Given the description of an element on the screen output the (x, y) to click on. 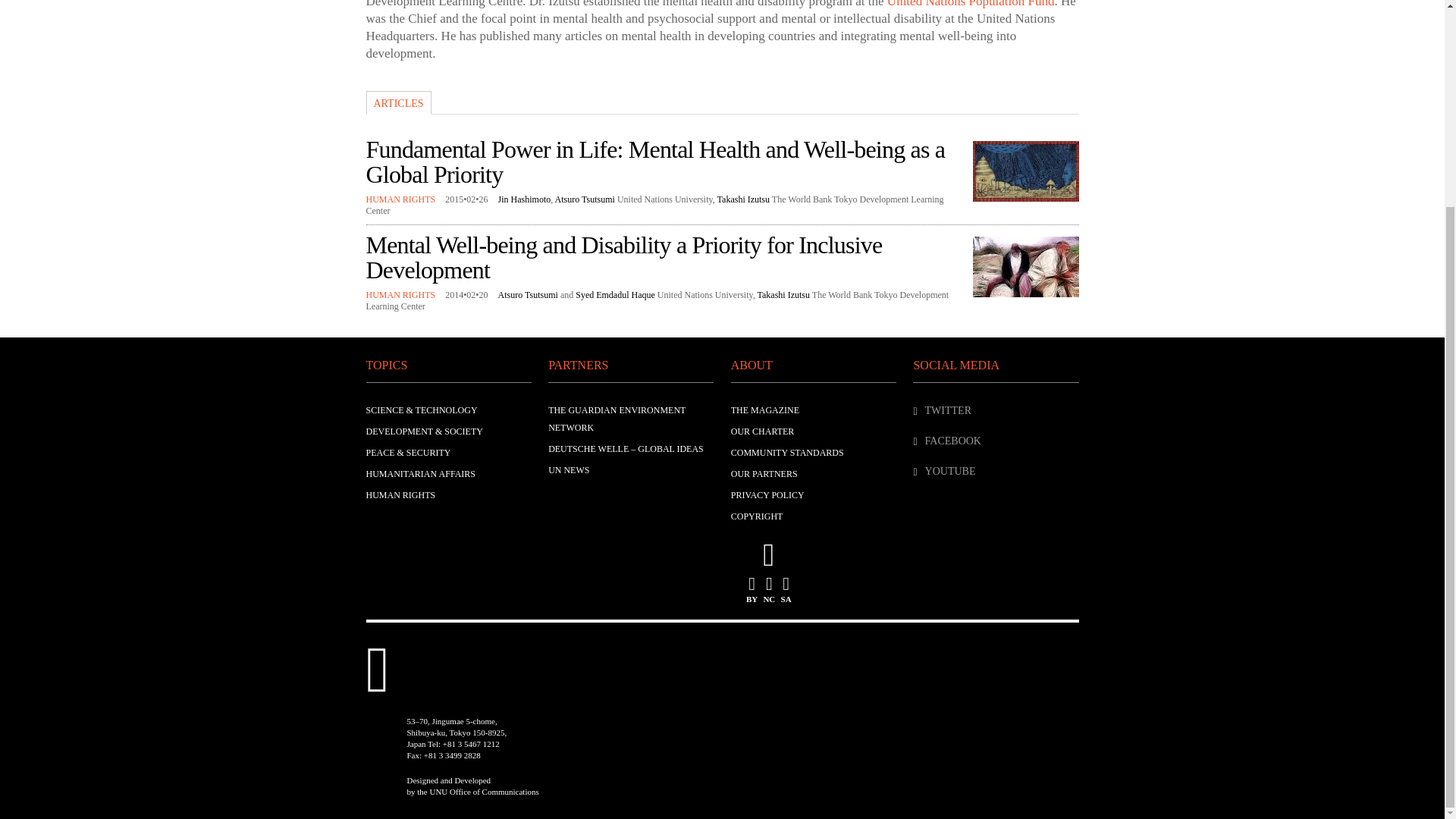
Jin Hashimoto (524, 199)
Syed Emdadul Haque (615, 294)
ARTICLES (397, 102)
HUMANITARIAN AFFAIRS (420, 473)
United Nations University (705, 294)
THE GUARDIAN ENVIRONMENT NETWORK (616, 418)
HUMAN RIGHTS (400, 494)
HUMAN RIGHTS (400, 199)
View all posts in HUMAN RIGHTS (400, 294)
